Given the description of an element on the screen output the (x, y) to click on. 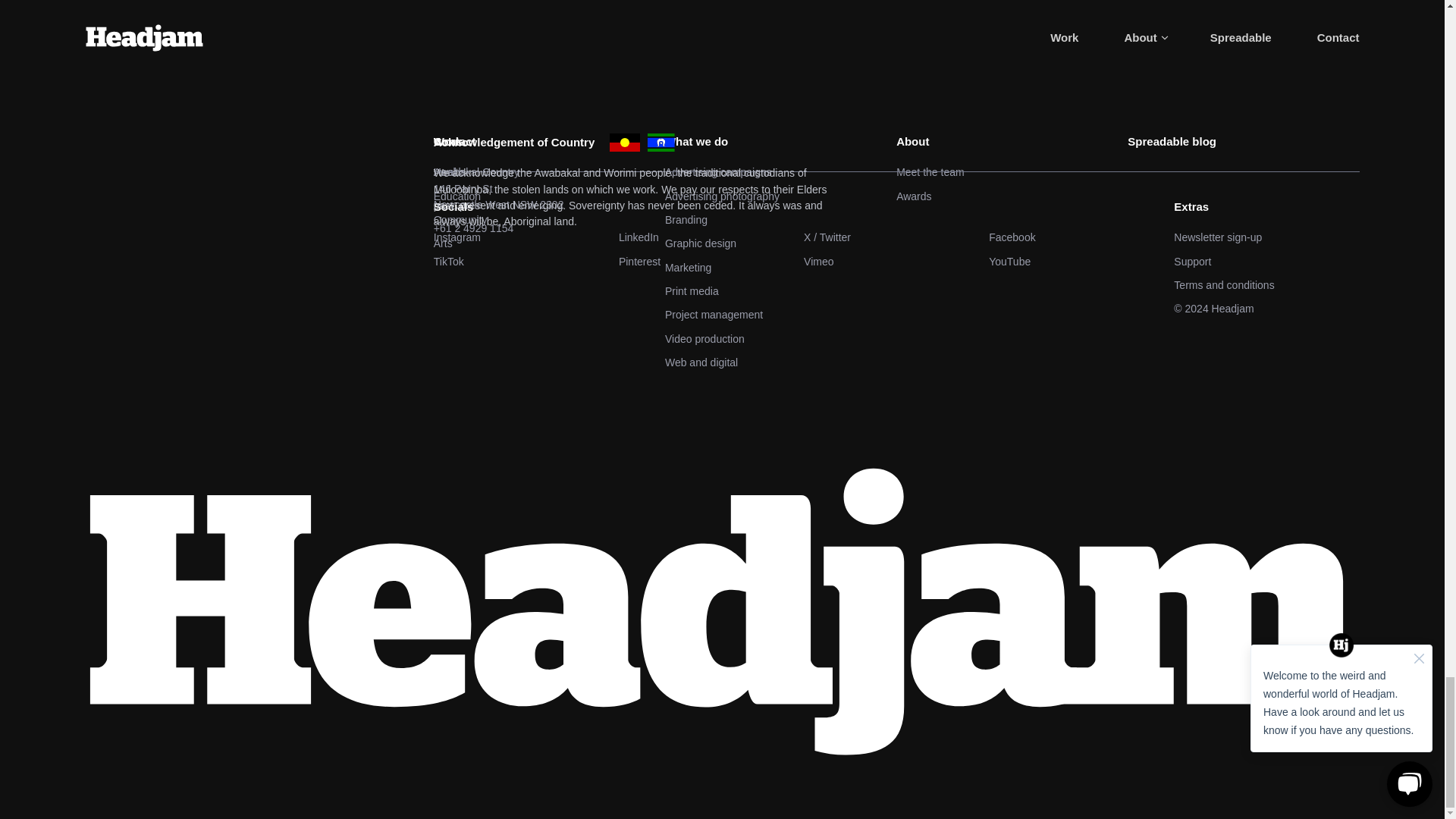
What we do (780, 141)
Health (549, 172)
Education (549, 196)
Advertising photography (780, 196)
Branding (780, 220)
Education (549, 196)
Work (549, 141)
Contact (888, 141)
Health (549, 172)
Get in touch (213, 16)
Facebook (1080, 237)
Awards (1011, 196)
Marketing (780, 268)
Web and digital (780, 362)
Headjam phone number (888, 228)
